Given the description of an element on the screen output the (x, y) to click on. 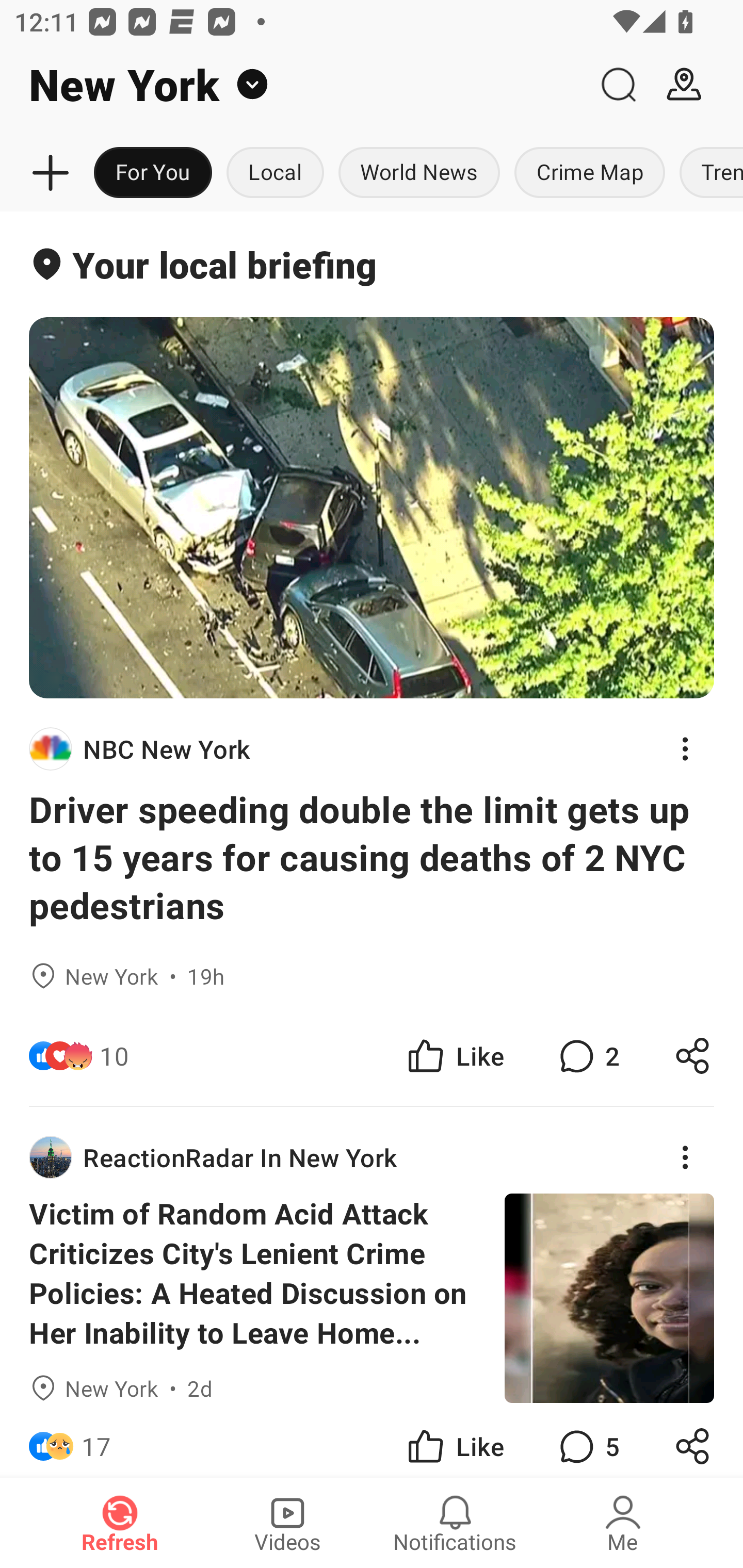
New York (292, 84)
For You (152, 172)
Local (275, 172)
World News (419, 172)
Crime Map (589, 172)
10 (114, 1055)
Like (454, 1055)
2 (587, 1055)
17 (95, 1440)
Like (454, 1440)
5 (587, 1440)
Videos (287, 1522)
Notifications (455, 1522)
Me (622, 1522)
